Given the description of an element on the screen output the (x, y) to click on. 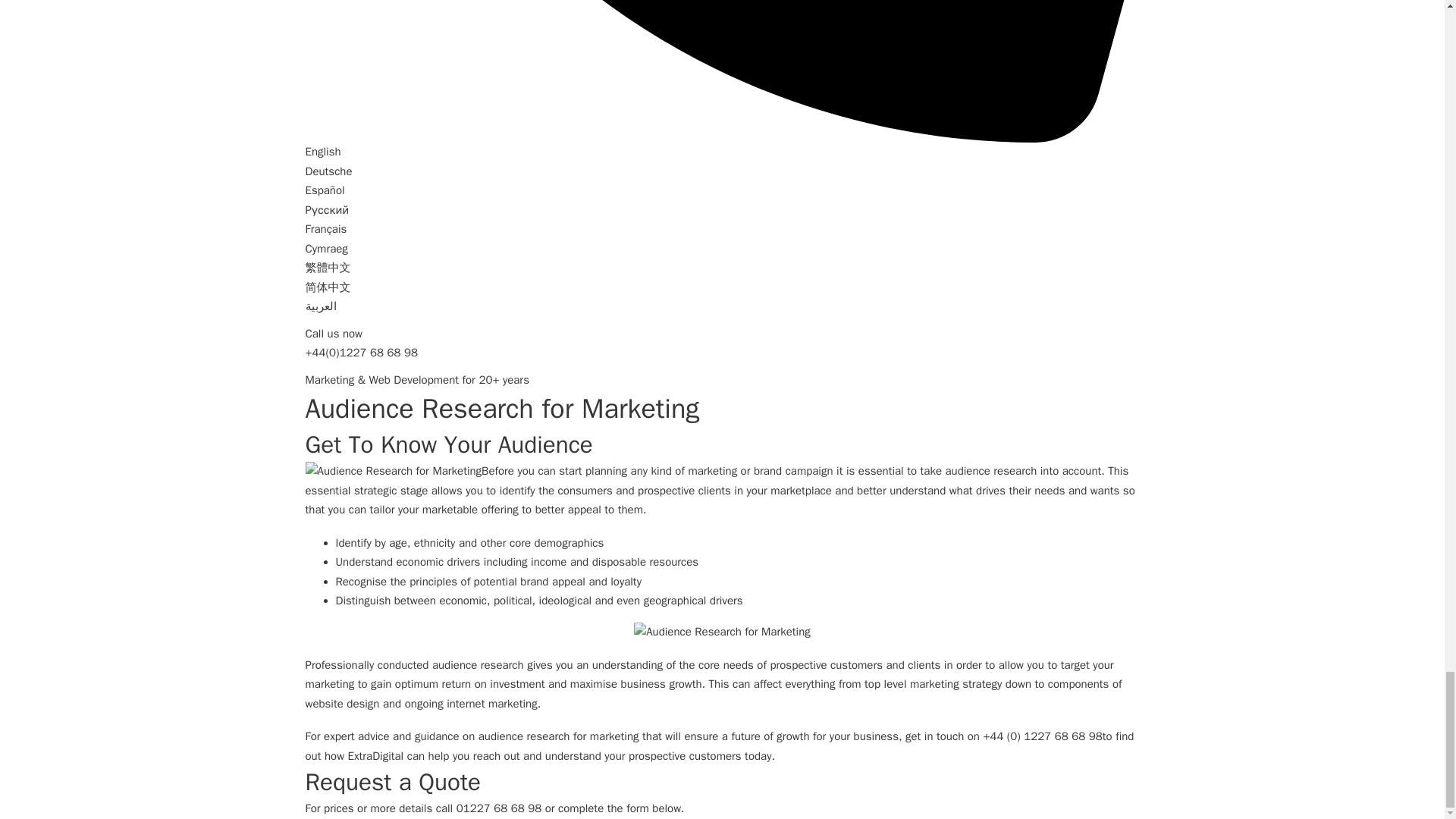
Audience Research for Marketing (392, 471)
call now (499, 807)
Audience Research for Marketing (721, 632)
